Given the description of an element on the screen output the (x, y) to click on. 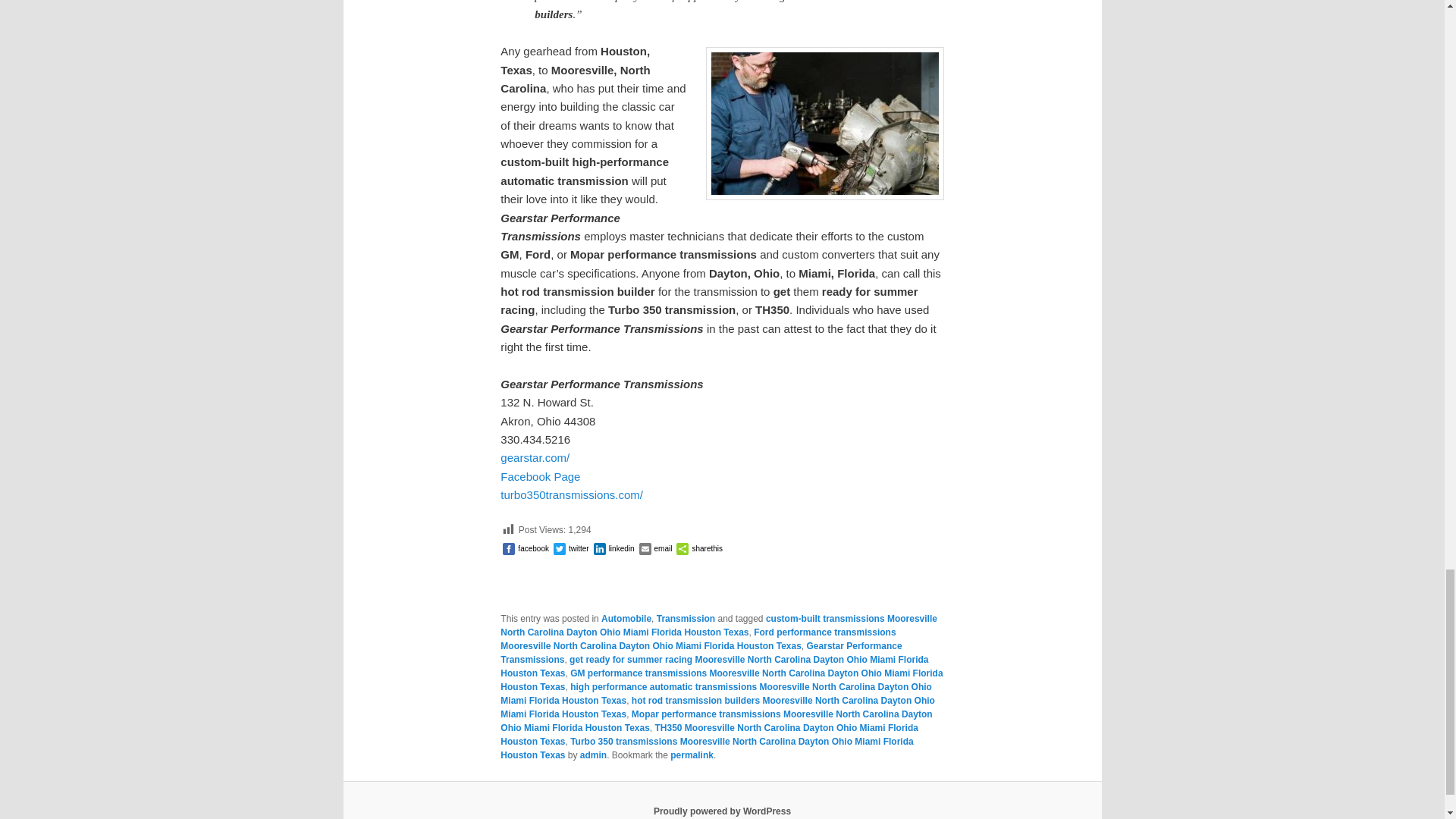
Facebook Page (539, 476)
permalink (691, 755)
Transmission (685, 618)
Gearstar Performance Transmissions (700, 652)
Automobile (625, 618)
Semantic Personal Publishing Platform (721, 810)
admin (593, 755)
Proudly powered by WordPress (721, 810)
